Given the description of an element on the screen output the (x, y) to click on. 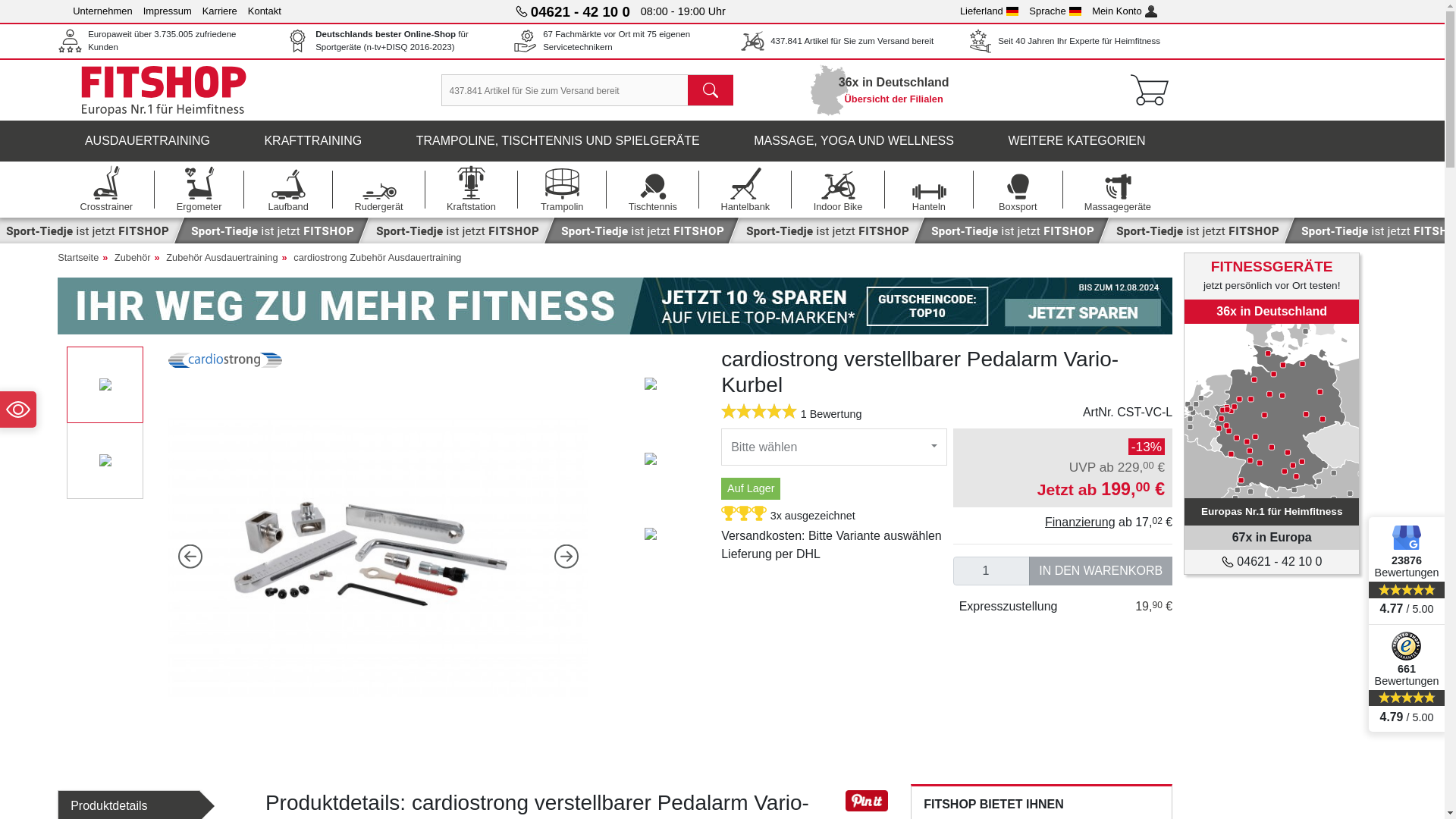
Massage, Yoga und Wellness (853, 140)
04621 - 42 10 0 08:00 - 19:00 Uhr (620, 11)
Unternehmen (102, 10)
Kontakt (264, 10)
Mein Konto (1124, 10)
Lieferland (988, 10)
WEITERE KATEGORIEN (1077, 140)
1 (991, 570)
AUSDAUERTRAINING (146, 140)
MASSAGE, YOGA UND WELLNESS (853, 140)
